Given the description of an element on the screen output the (x, y) to click on. 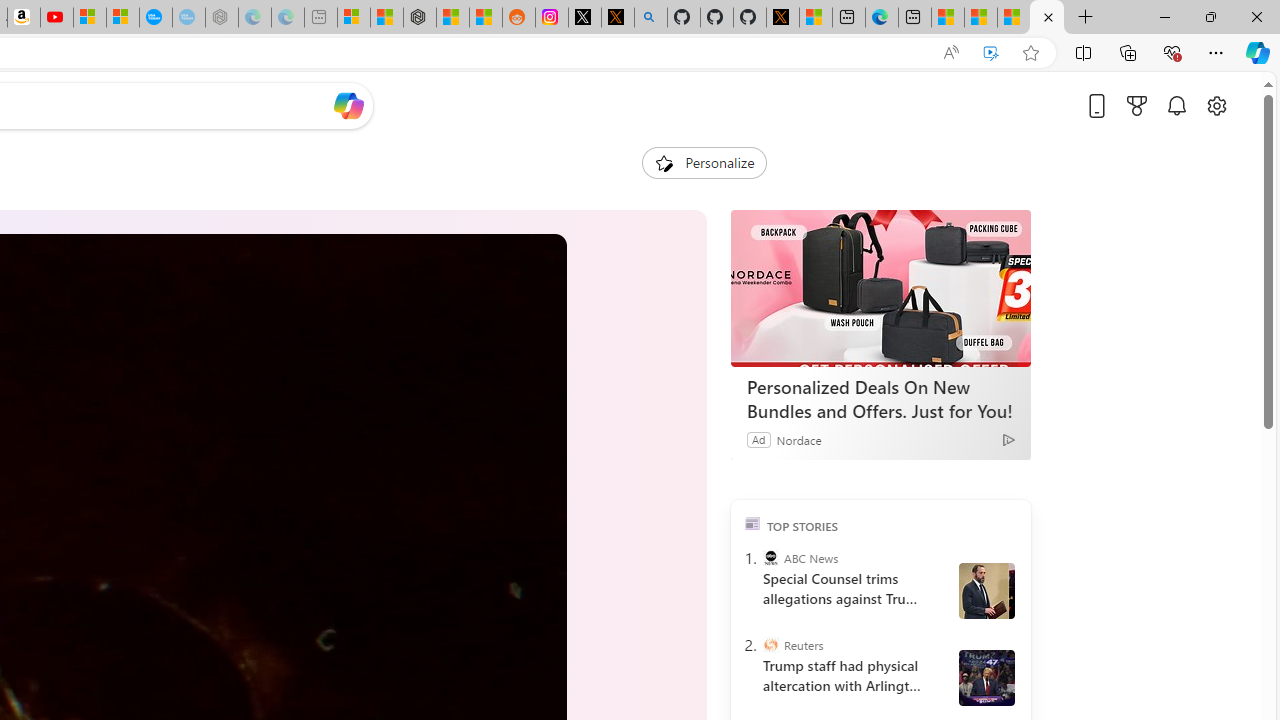
Nordace - Duffels (420, 17)
Welcome to Microsoft Edge (882, 17)
MSNBC - MSN (981, 17)
The most popular Google 'how to' searches - Sleeping (188, 17)
